Given the description of an element on the screen output the (x, y) to click on. 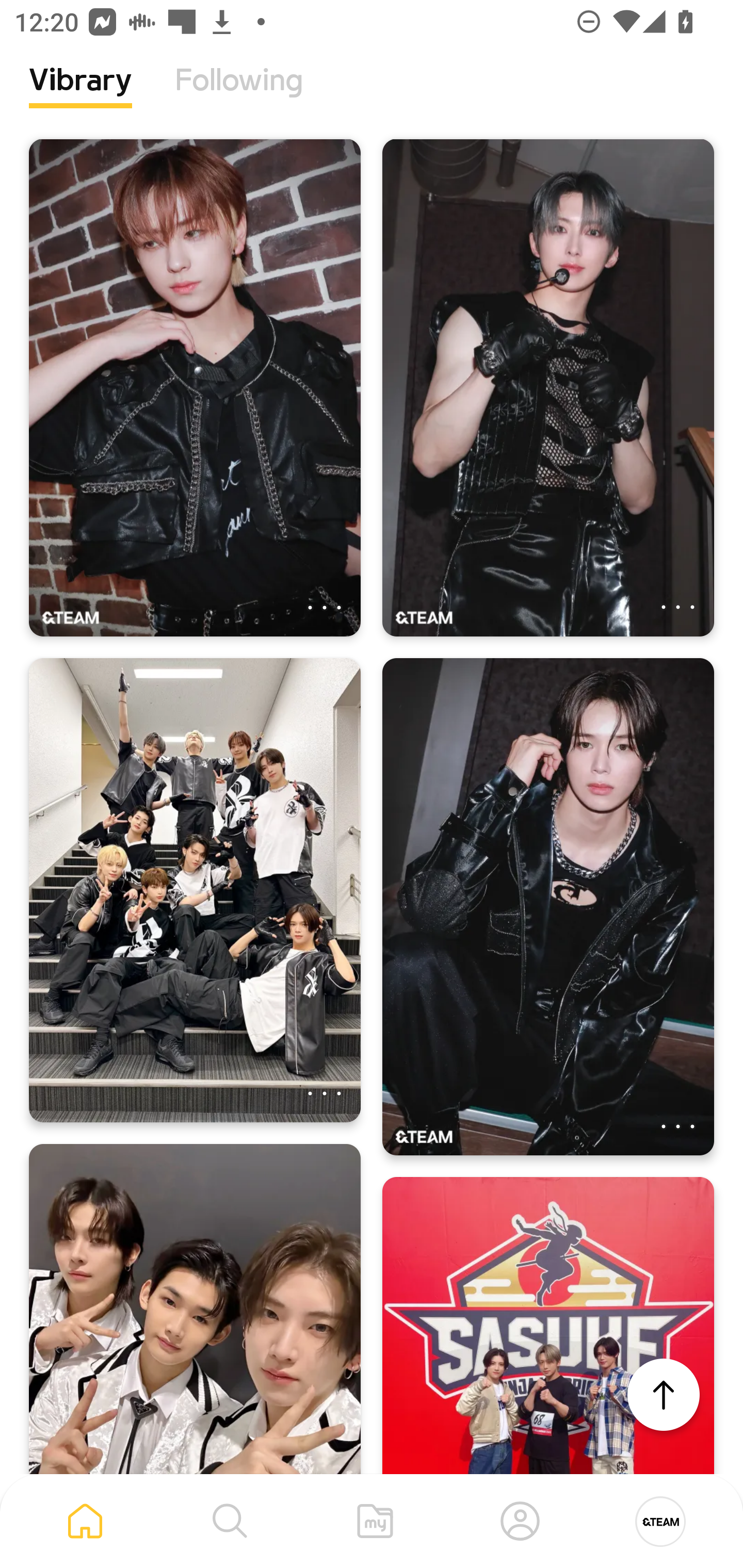
Vibrary (80, 95)
Following (239, 95)
